Given the description of an element on the screen output the (x, y) to click on. 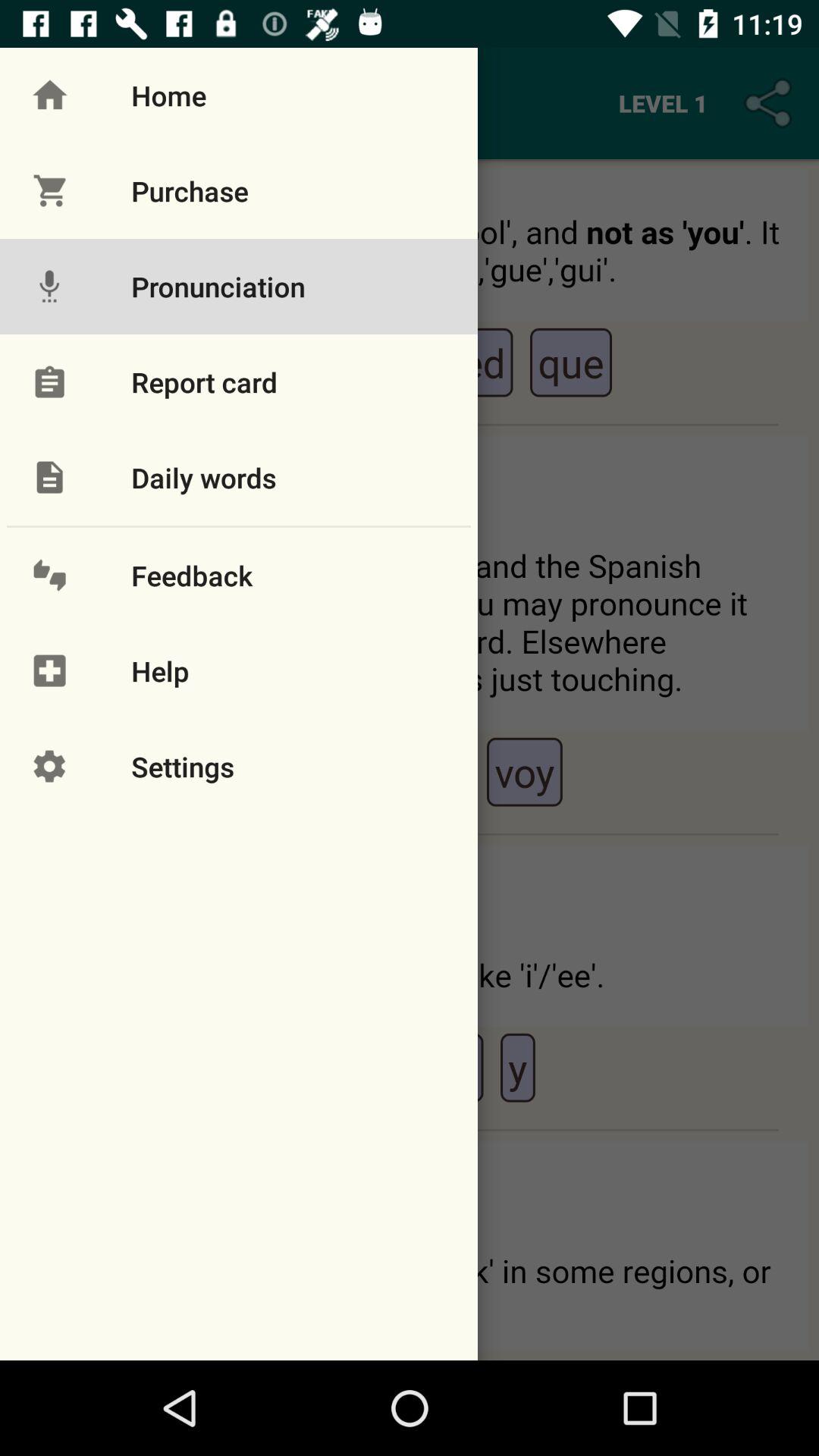
select the share button which is on the top right corner of the page (771, 103)
